Given the description of an element on the screen output the (x, y) to click on. 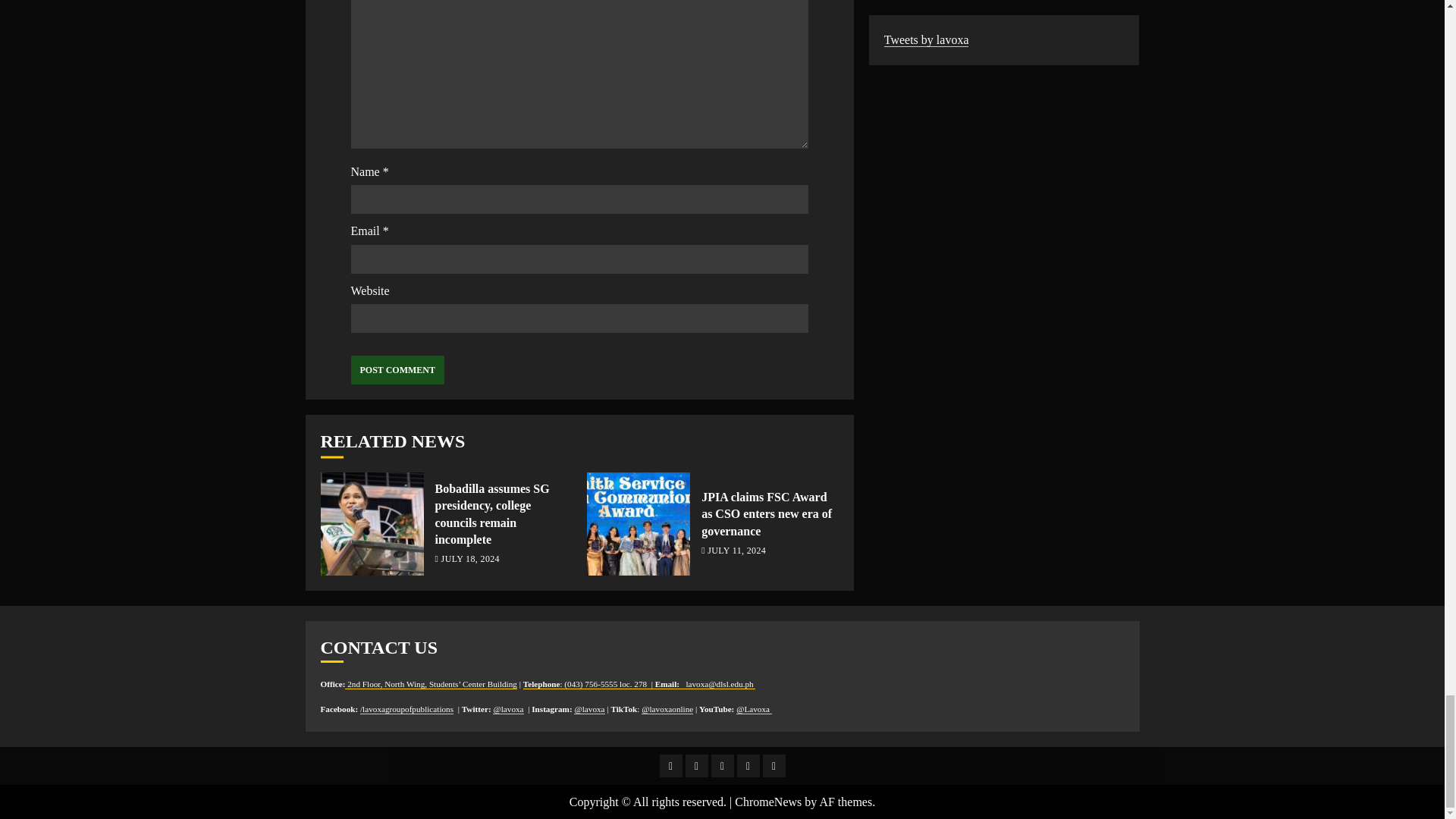
Post Comment (397, 369)
